Given the description of an element on the screen output the (x, y) to click on. 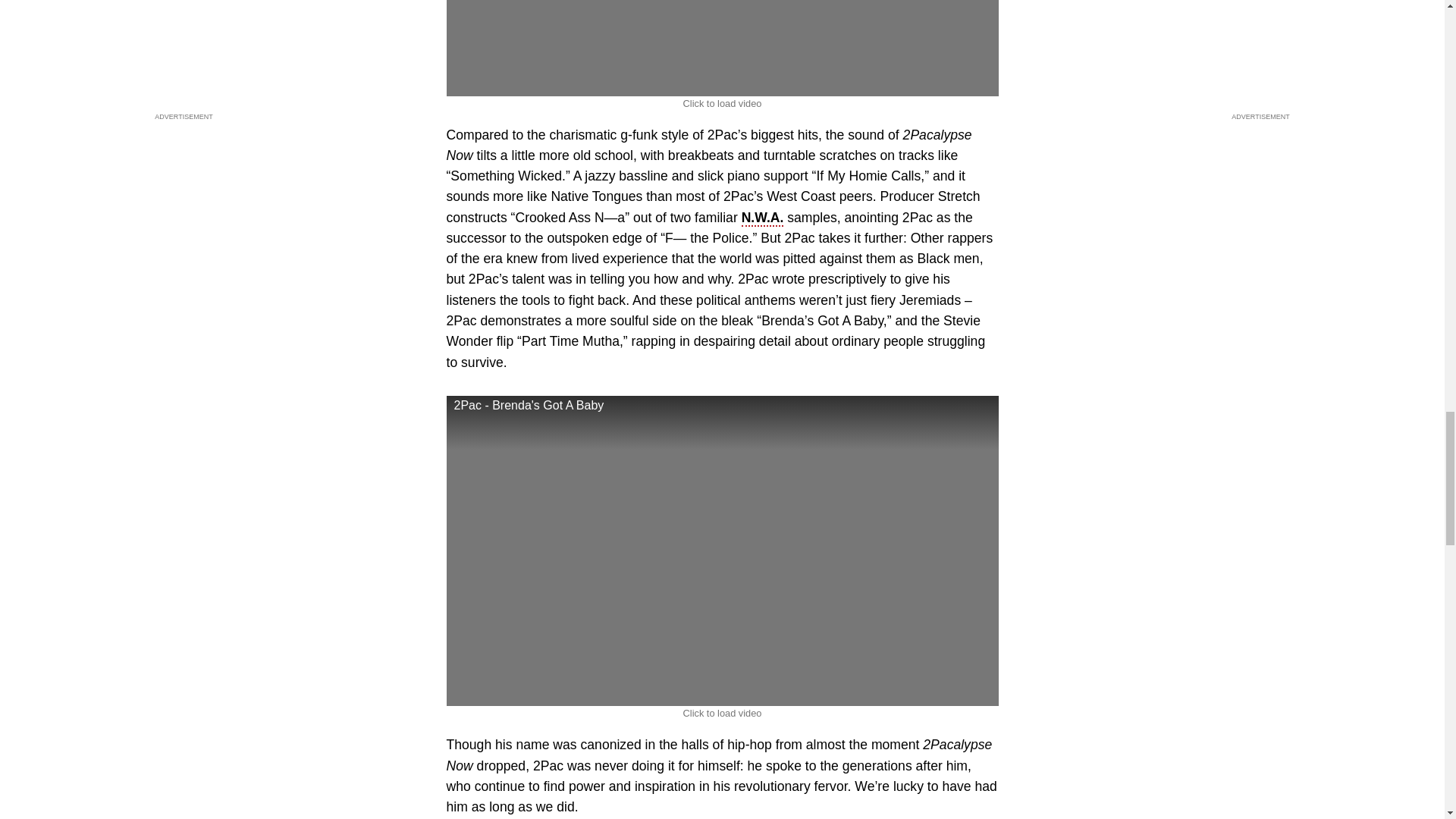
Words Of Wisdom (721, 48)
